Given the description of an element on the screen output the (x, y) to click on. 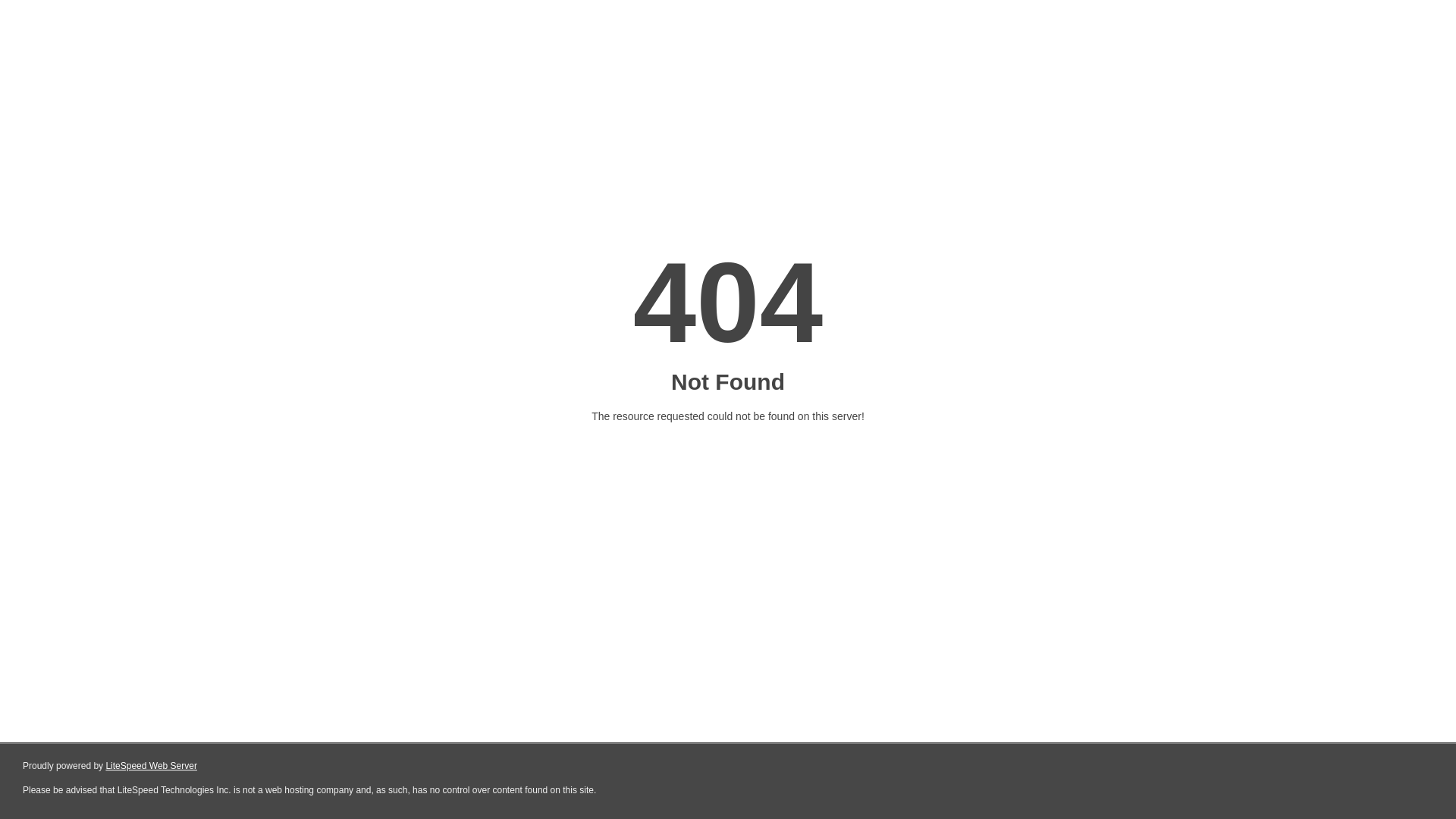
LiteSpeed Web Server Element type: text (151, 765)
